Given the description of an element on the screen output the (x, y) to click on. 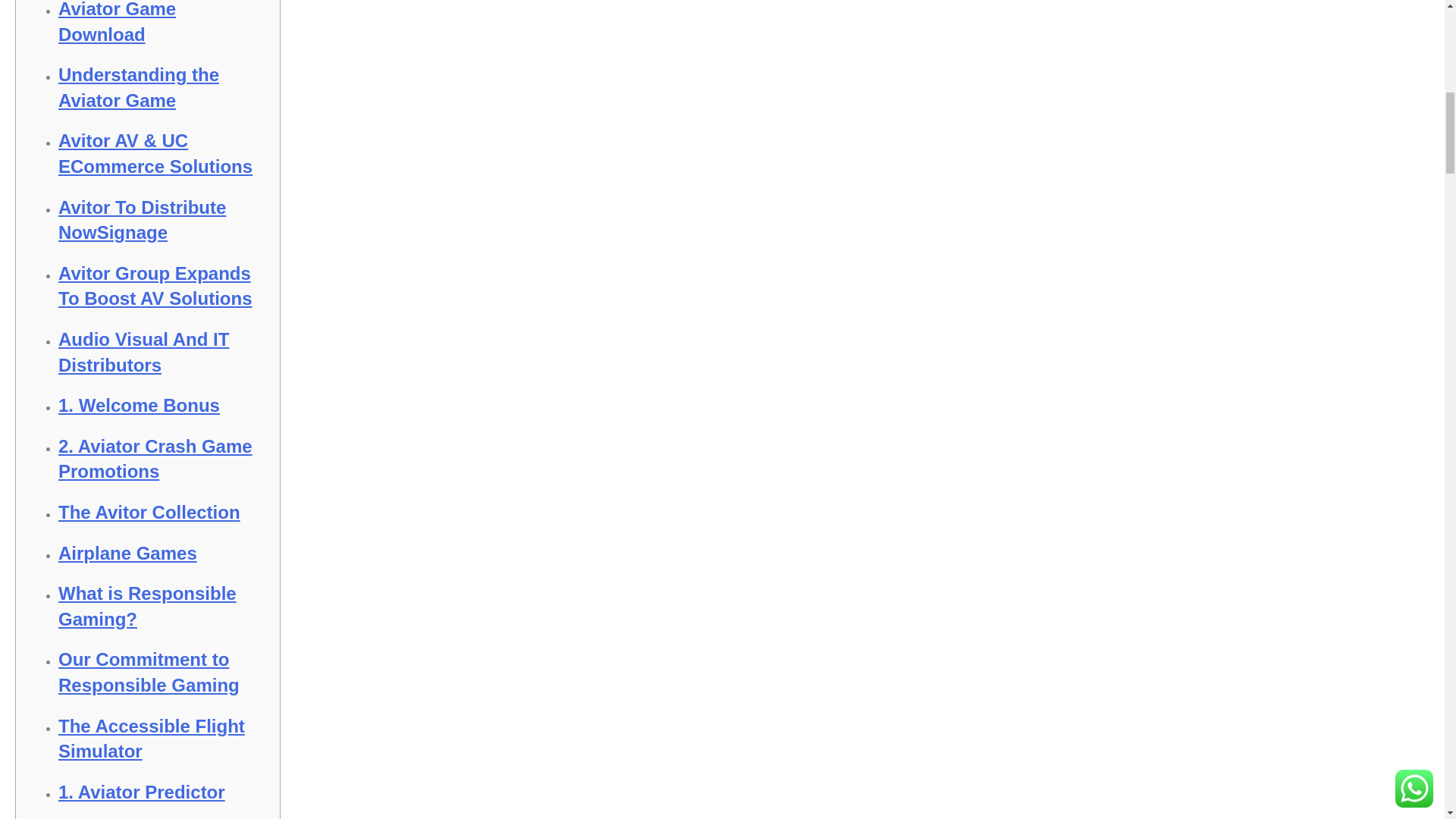
Understanding the Aviator Game (138, 87)
What is Responsible Gaming? (146, 606)
Avitor Group Expands To Boost AV Solutions (154, 285)
1. Welcome Bonus (138, 404)
Audio Visual And IT Distributors (143, 352)
Our Commitment to Responsible Gaming (149, 672)
Aviator Game Download (117, 22)
2. Aviator Crash Game Promotions (154, 458)
Airplane Games (127, 552)
The Avitor Collection (149, 512)
